Given the description of an element on the screen output the (x, y) to click on. 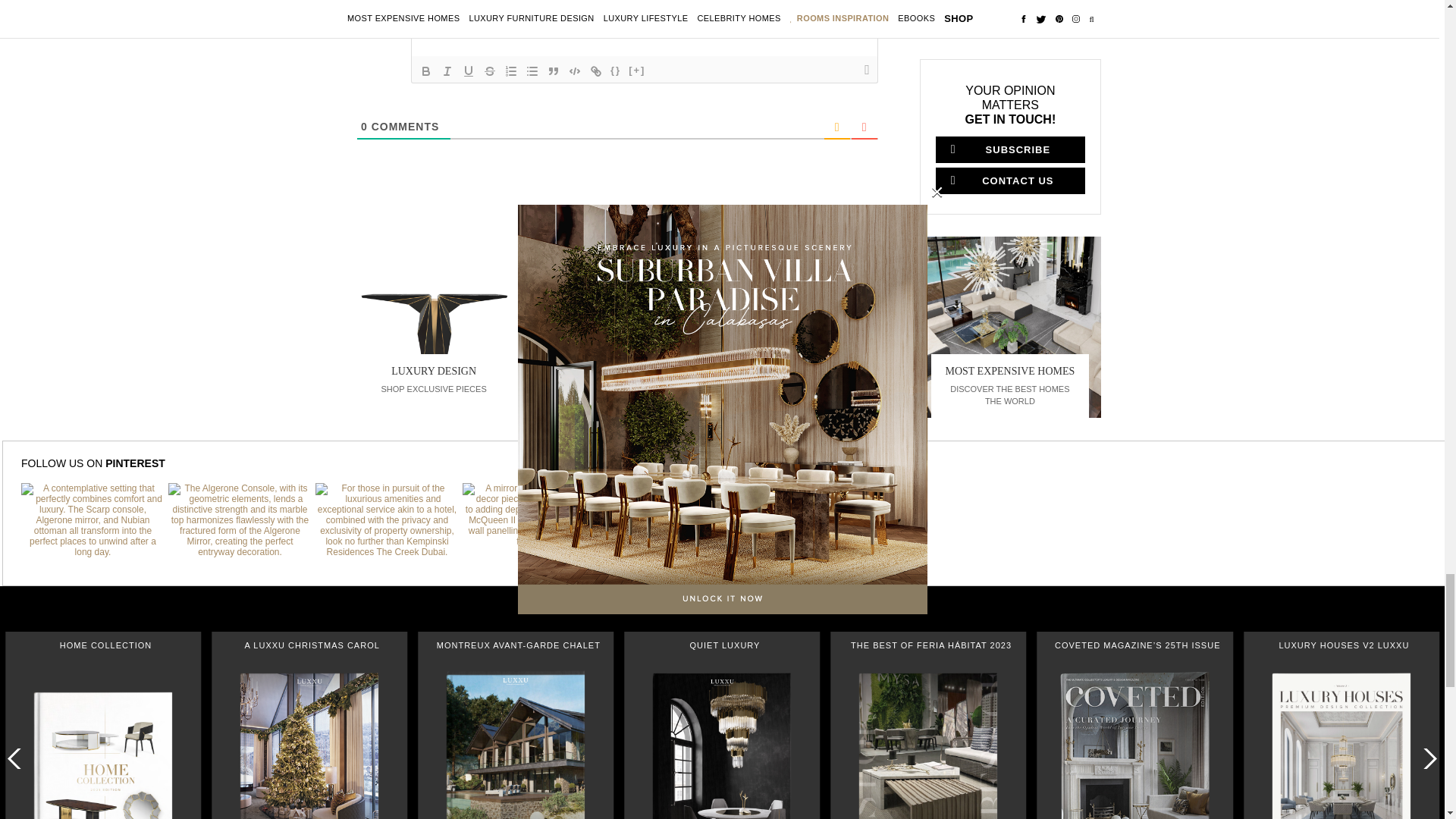
Bold (425, 71)
Strike (489, 71)
Unordered List (532, 71)
Italic (447, 71)
Underline (468, 71)
Ordered List (510, 71)
